Given the description of an element on the screen output the (x, y) to click on. 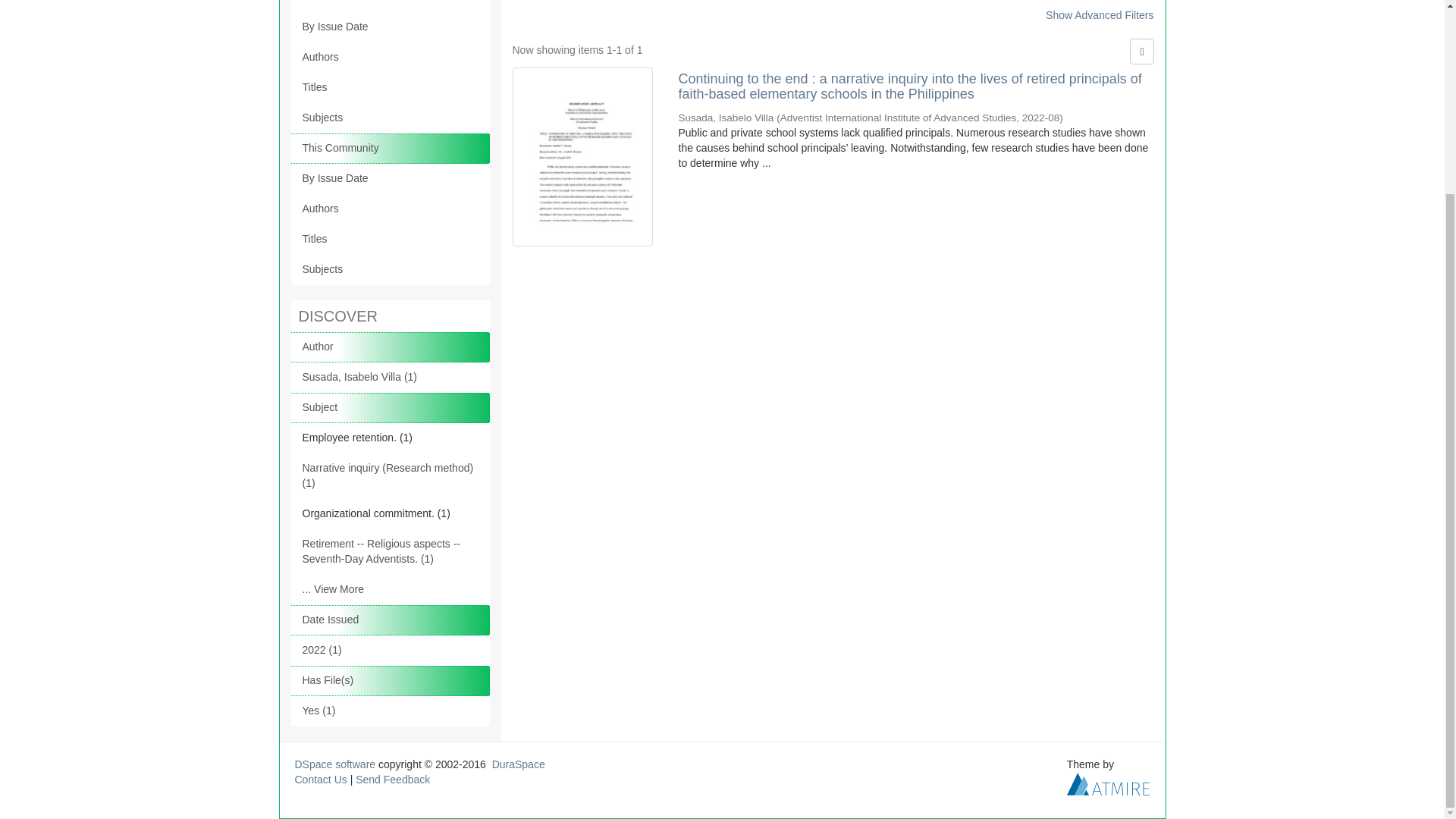
By Issue Date (390, 27)
Show Advanced Filters (1099, 15)
Atmire NV (1108, 782)
